Given the description of an element on the screen output the (x, y) to click on. 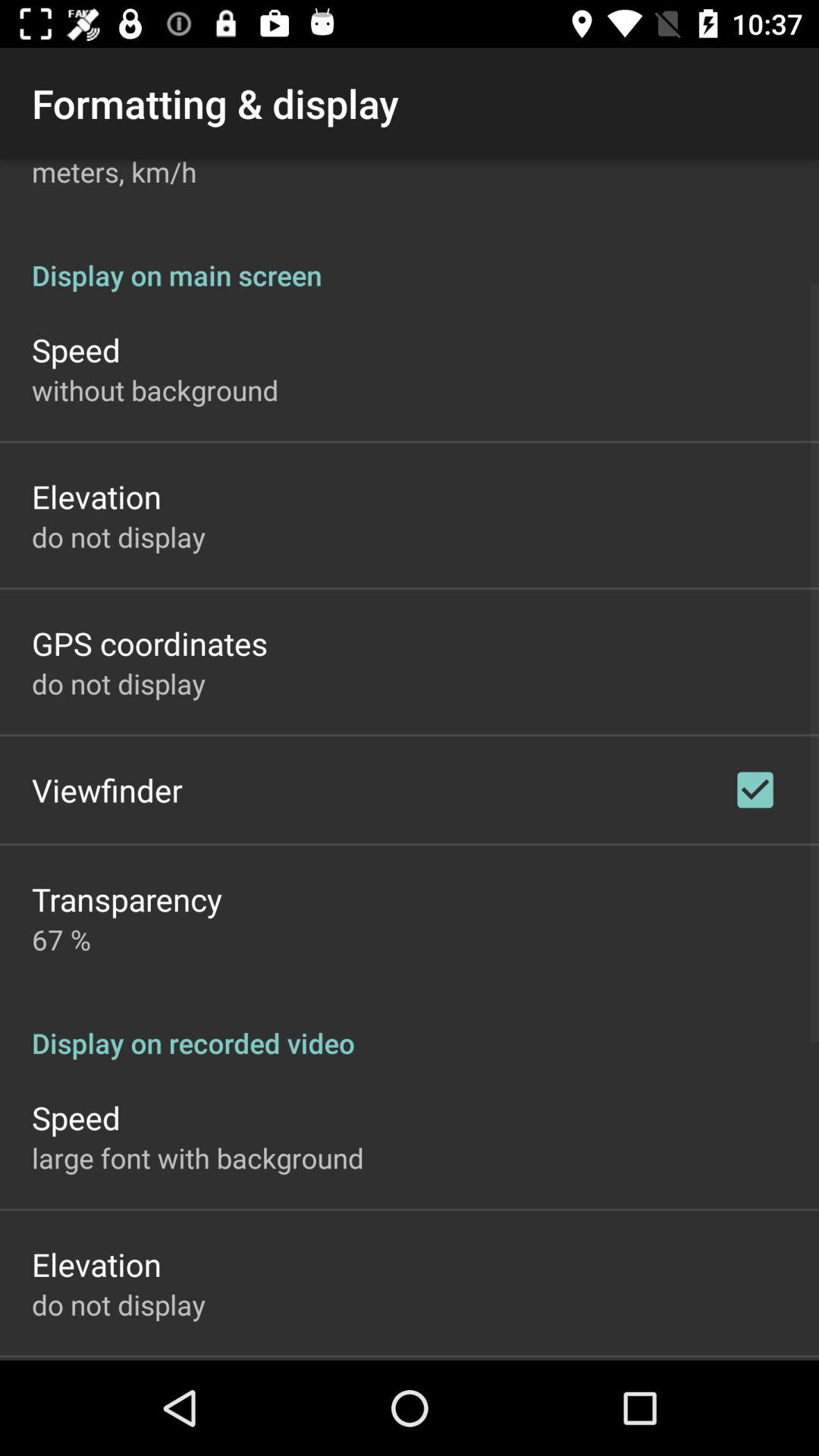
tap app below formatting & display (113, 174)
